Given the description of an element on the screen output the (x, y) to click on. 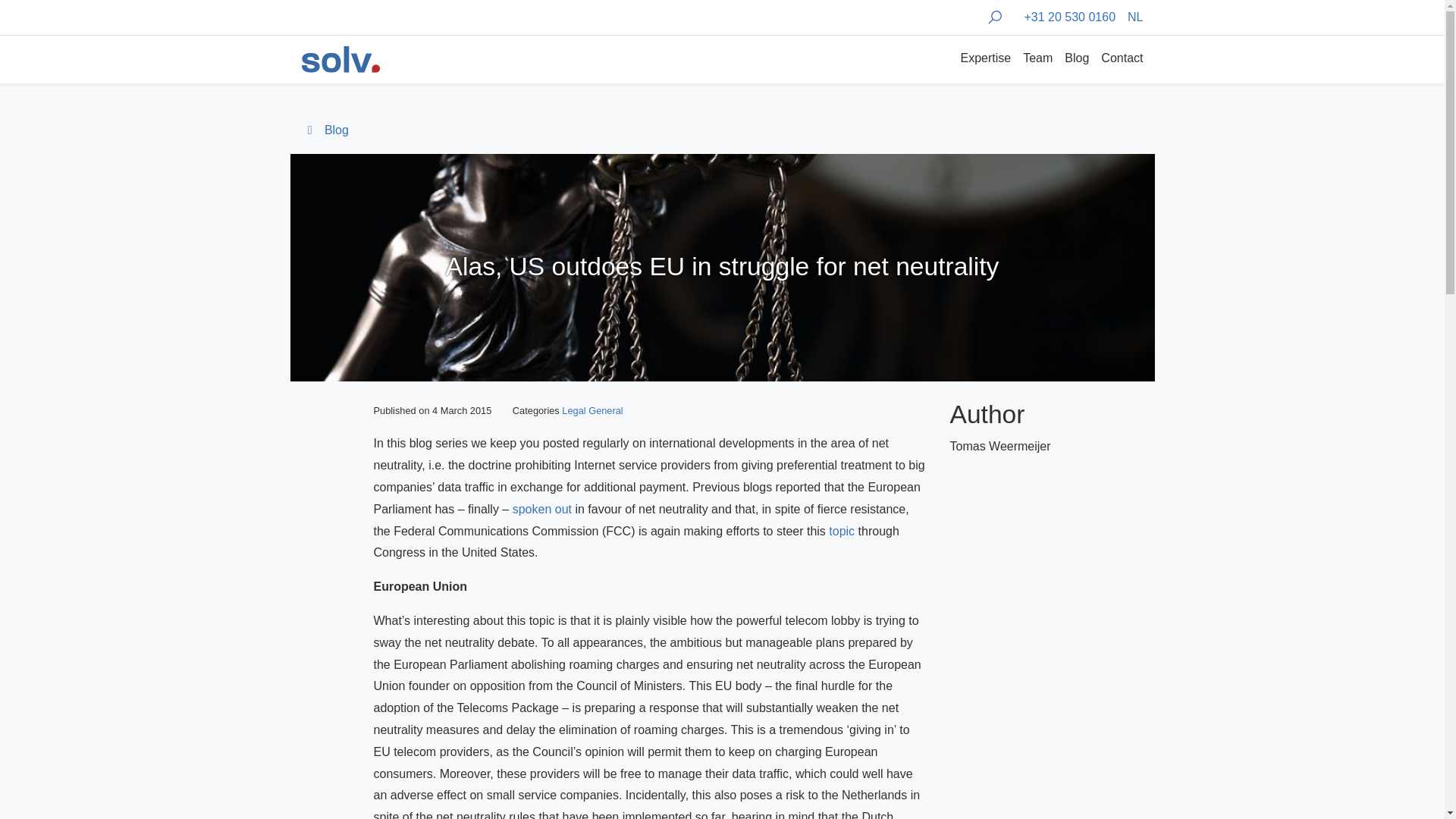
Blog (1076, 58)
Contact (1118, 58)
Legal General (592, 410)
topic (841, 530)
Team (1037, 58)
Expertise (984, 58)
Blog (325, 129)
Expertise (984, 58)
Blog (1076, 58)
Team (1037, 58)
